Given the description of an element on the screen output the (x, y) to click on. 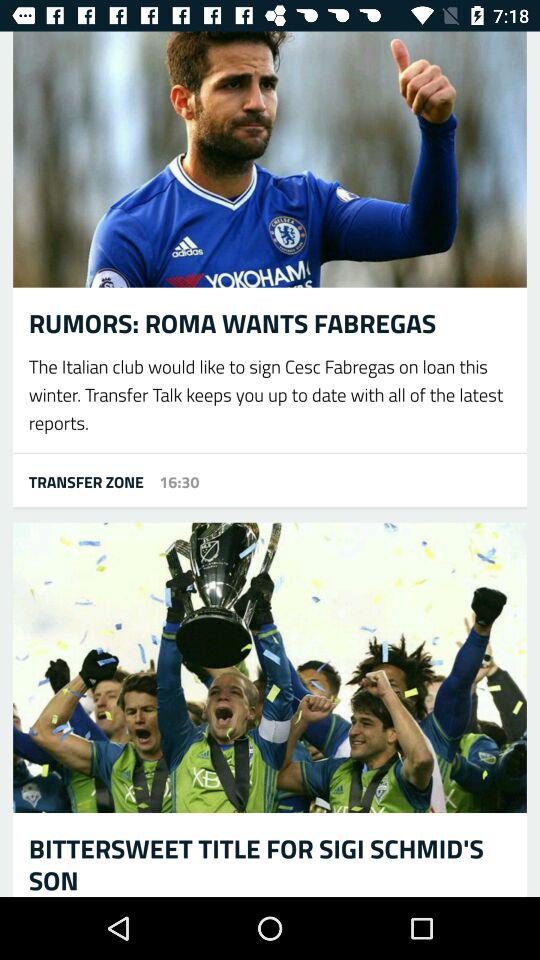
tap the transfer zone icon (78, 481)
